Given the description of an element on the screen output the (x, y) to click on. 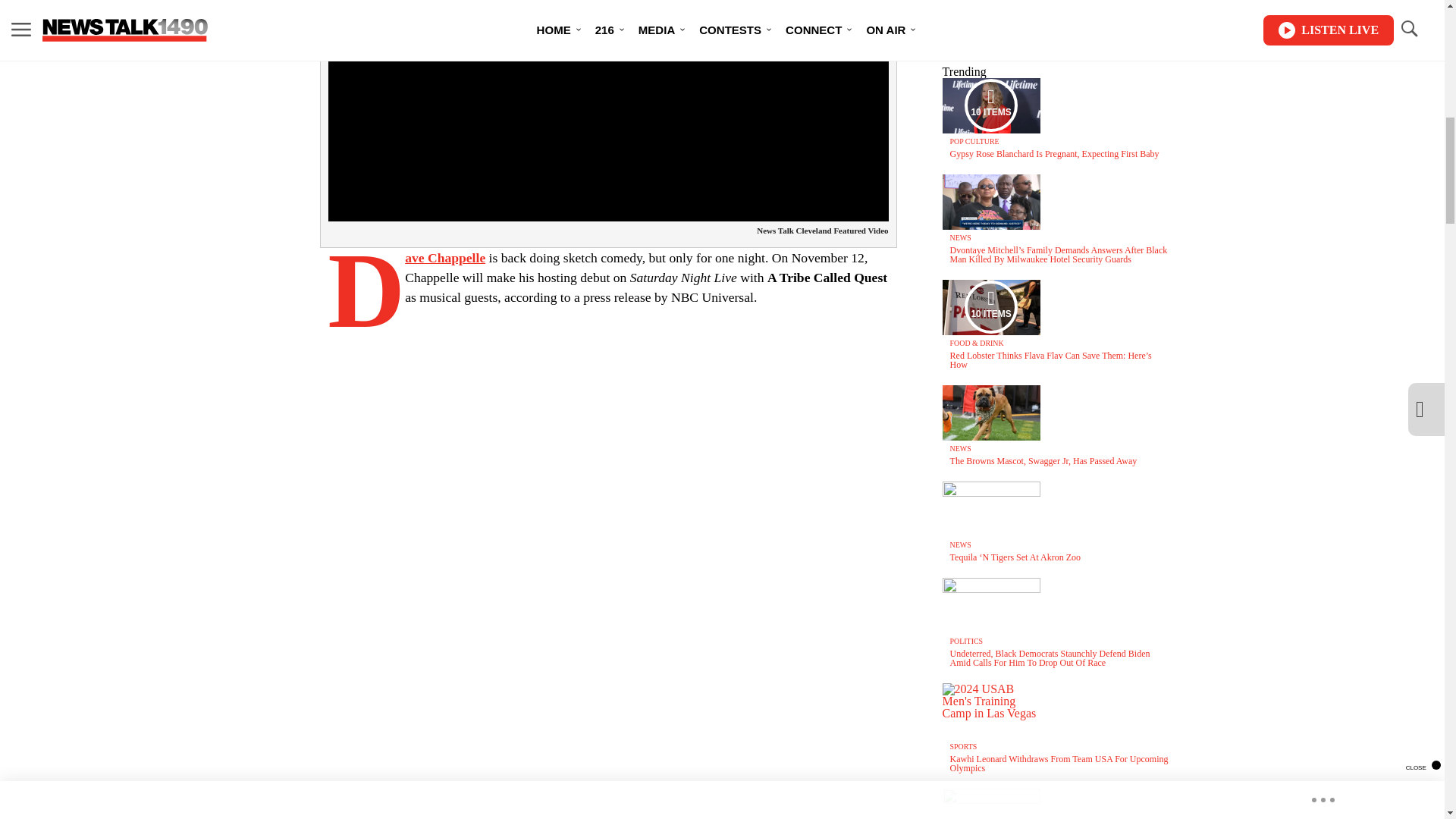
Media Playlist (990, 306)
Media Playlist (990, 104)
